Given the description of an element on the screen output the (x, y) to click on. 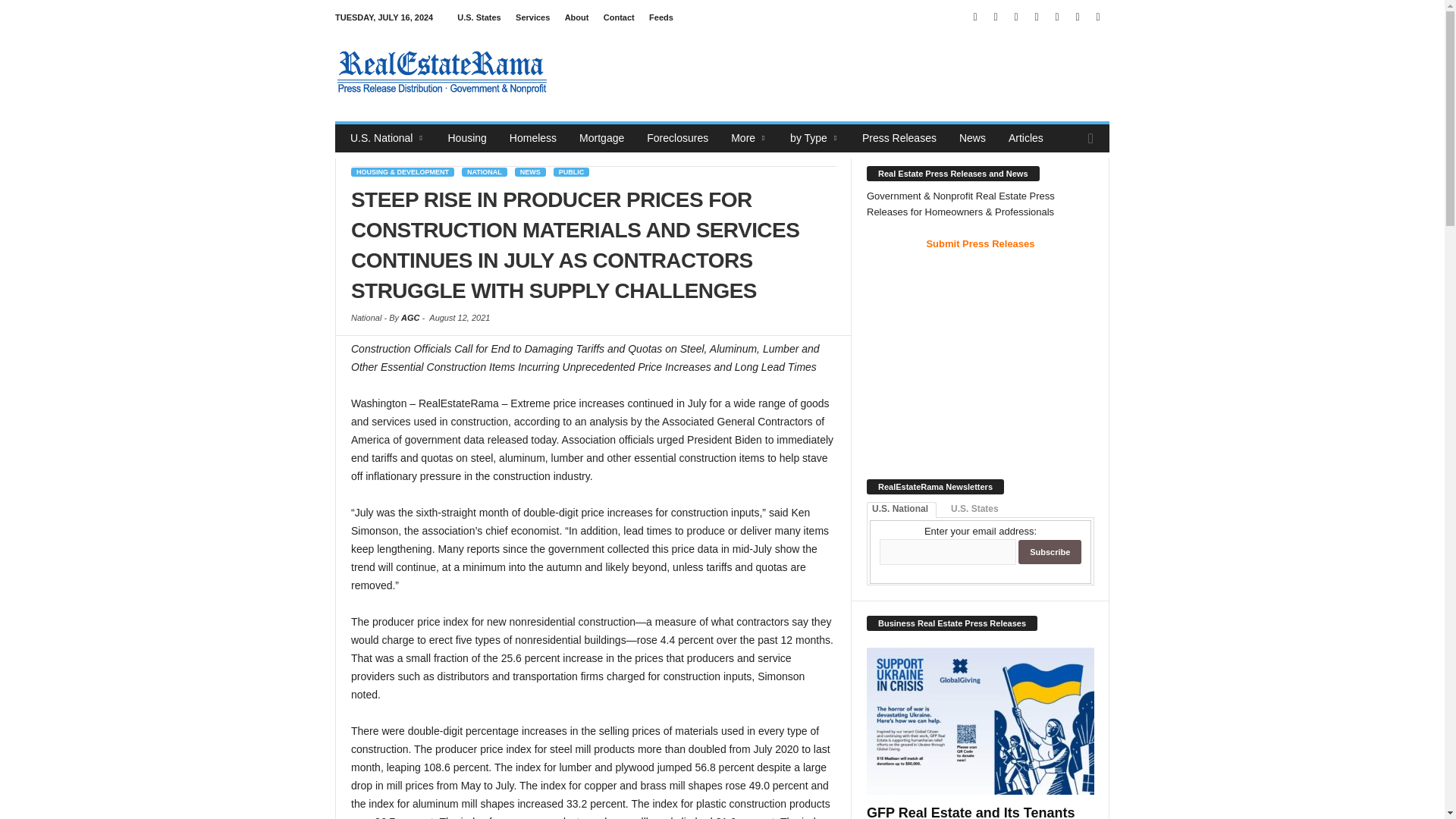
RSS (1056, 17)
Youtube (1097, 17)
Twitter (1077, 17)
Advertisement (833, 71)
Linkedin (995, 17)
Subscribe (1049, 551)
Mail (1016, 17)
Facebook (975, 17)
Pinterest (1036, 17)
